Given the description of an element on the screen output the (x, y) to click on. 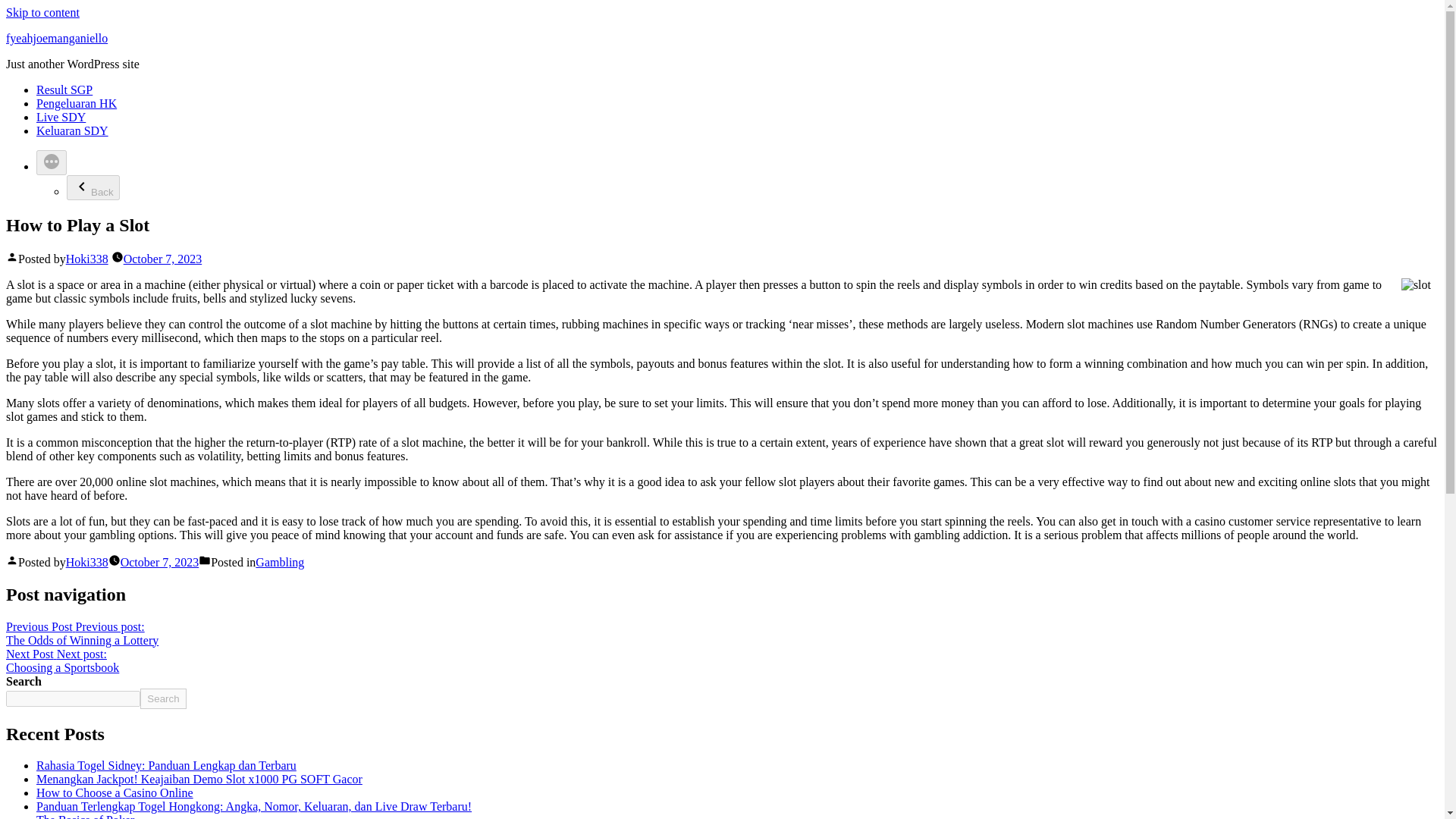
fyeahjoemanganiello (56, 38)
Skip to content (42, 11)
October 7, 2023 (159, 562)
Pengeluaran HK (81, 633)
Hoki338 (76, 103)
October 7, 2023 (86, 562)
The Basics of Poker (162, 258)
Keluaran SDY (84, 816)
Search (71, 130)
Menangkan Jackpot! Keajaiban Demo Slot x1000 PG SOFT Gacor (162, 698)
Gambling (199, 779)
Back (280, 562)
How to Choose a Casino Online (92, 187)
